Given the description of an element on the screen output the (x, y) to click on. 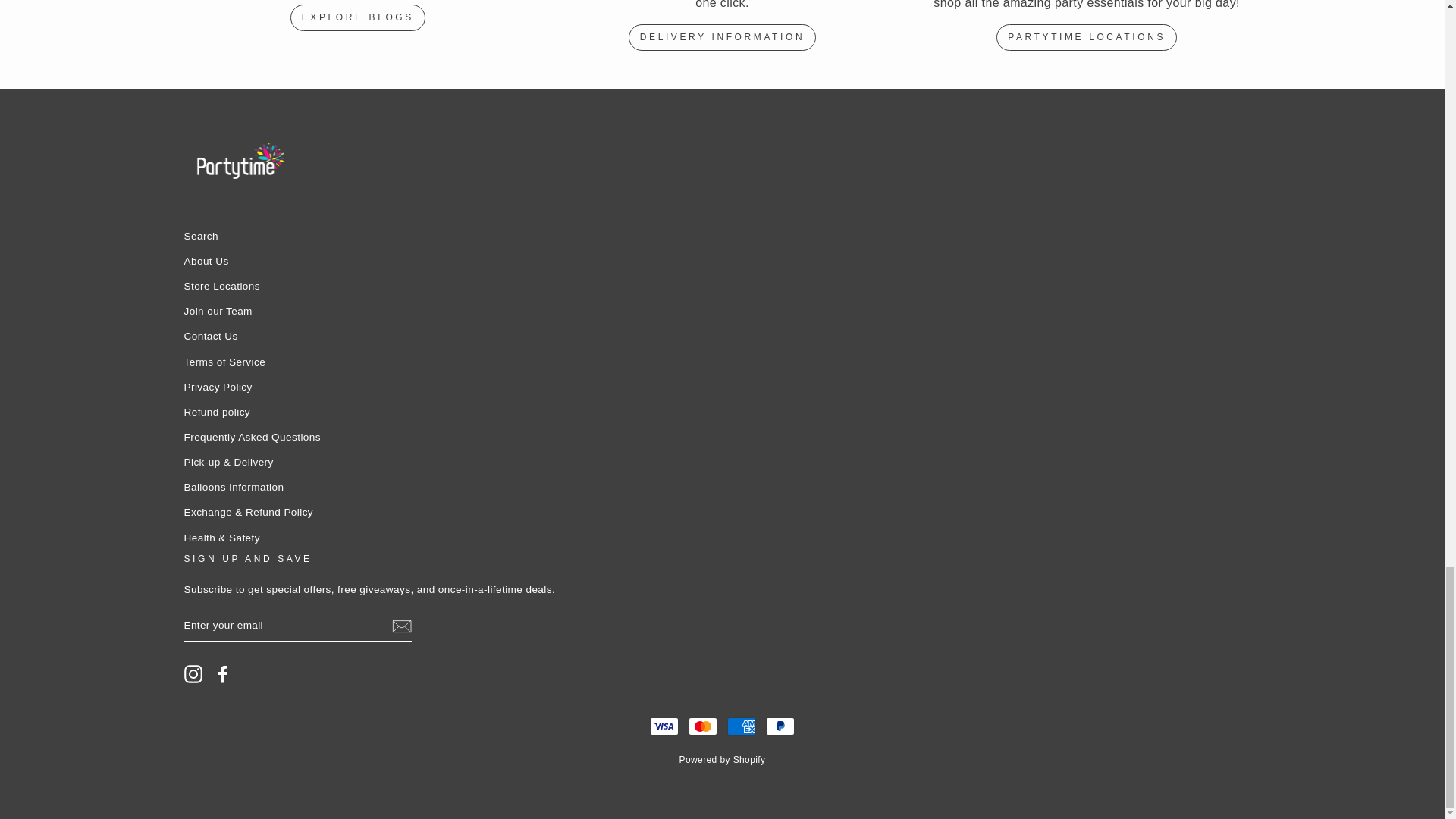
Visa (663, 726)
PayPal (779, 726)
American Express (740, 726)
Partytime on Facebook (222, 674)
Partytime on Instagram (192, 674)
Mastercard (702, 726)
